Given the description of an element on the screen output the (x, y) to click on. 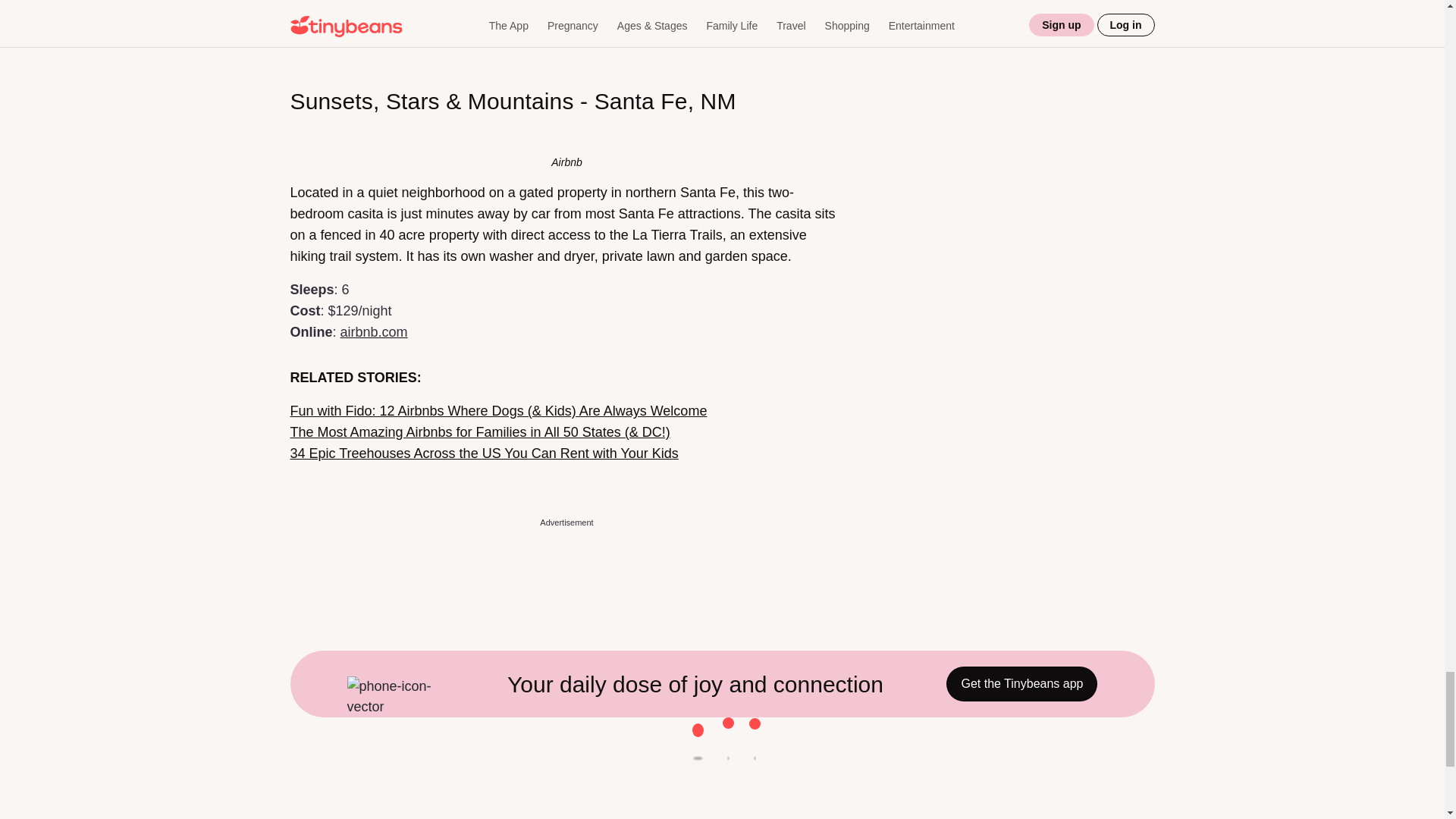
Get the Tinybeans app (1021, 683)
